Given the description of an element on the screen output the (x, y) to click on. 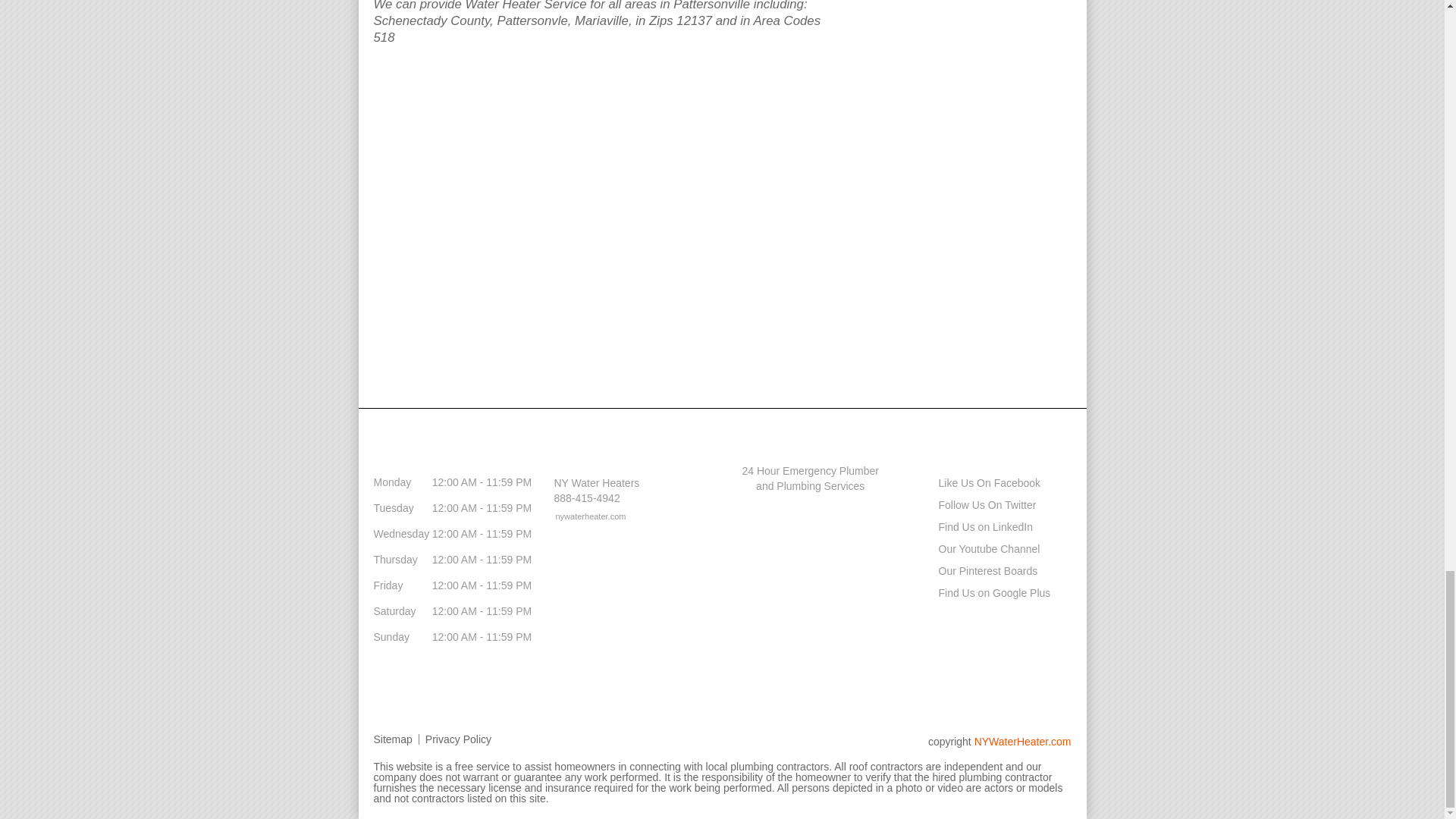
Follow Us On Twitter (972, 504)
Like Us On Facebook (974, 482)
nywaterheater.com (583, 515)
